Given the description of an element on the screen output the (x, y) to click on. 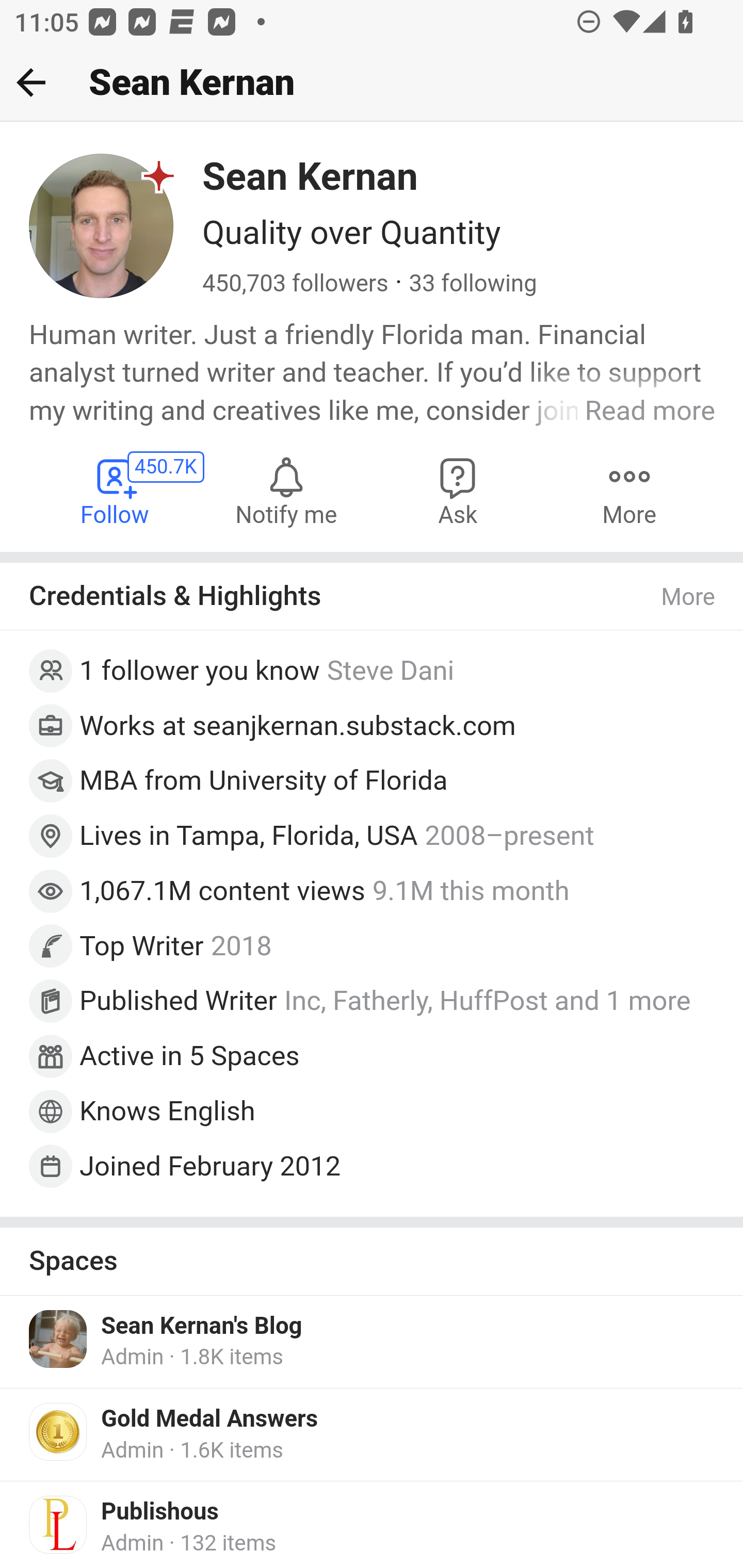
Back (30, 82)
Quora+ Subscriber (159, 175)
Follow Sean Kernan 450.7K Follow (115, 490)
Notify me (285, 490)
Ask (458, 490)
More (628, 490)
More (688, 597)
Published Writer (178, 1001)
Icon for Sean Kernan's Blog (58, 1338)
Sean Kernan's Blog (202, 1326)
Icon for Gold Medal Answers (58, 1431)
Gold Medal Answers (210, 1419)
Icon for Publishous (58, 1525)
Publishous (160, 1512)
